Given the description of an element on the screen output the (x, y) to click on. 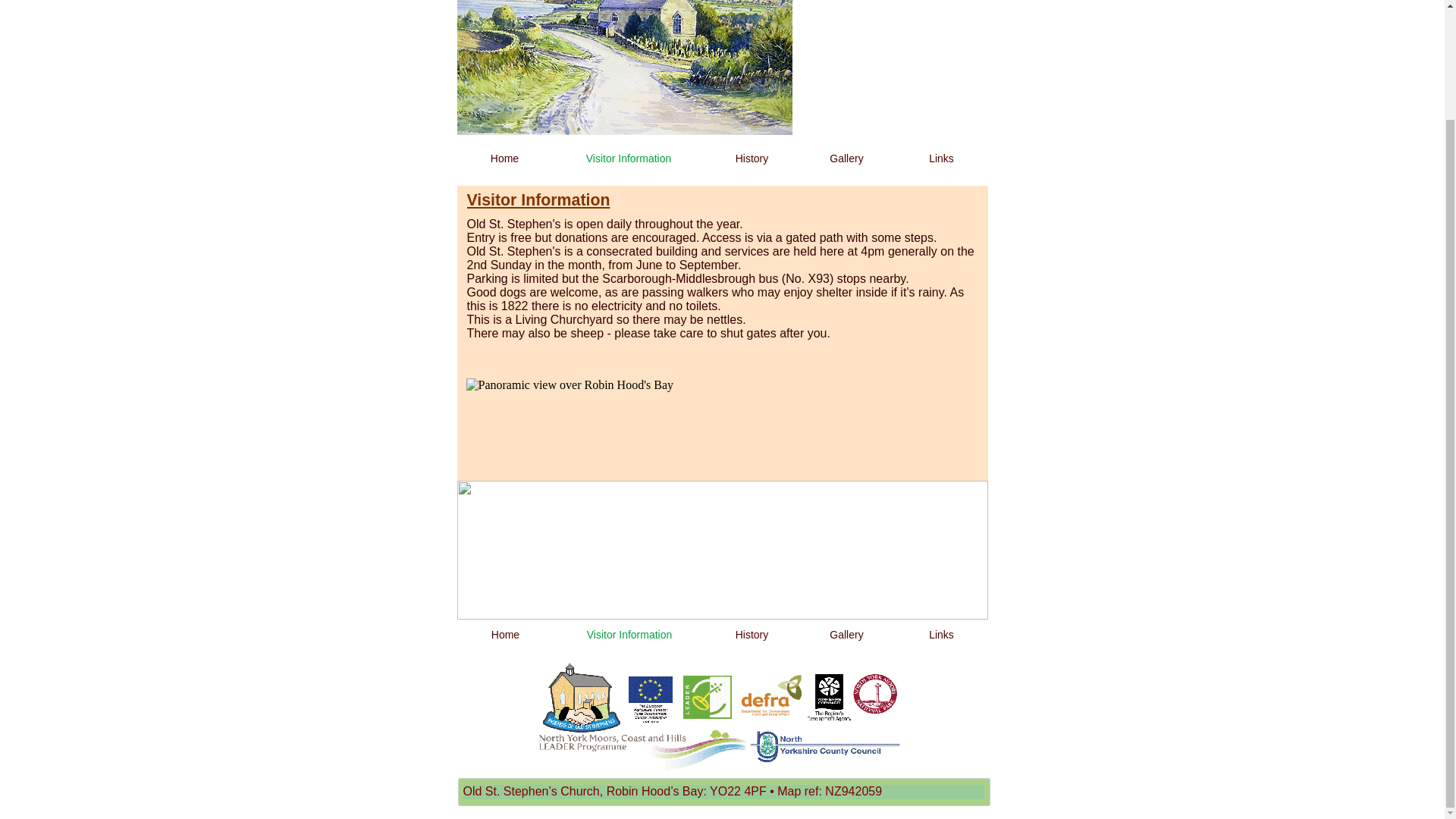
Gravestone of Thomas Renwick (891, 67)
History (750, 635)
Home (505, 635)
Visitor Information (627, 159)
Visitor Information (627, 635)
Links (940, 159)
Panoramic view over Robin Hood's Bay (721, 496)
Links (940, 635)
Home (504, 159)
History (750, 159)
